Given the description of an element on the screen output the (x, y) to click on. 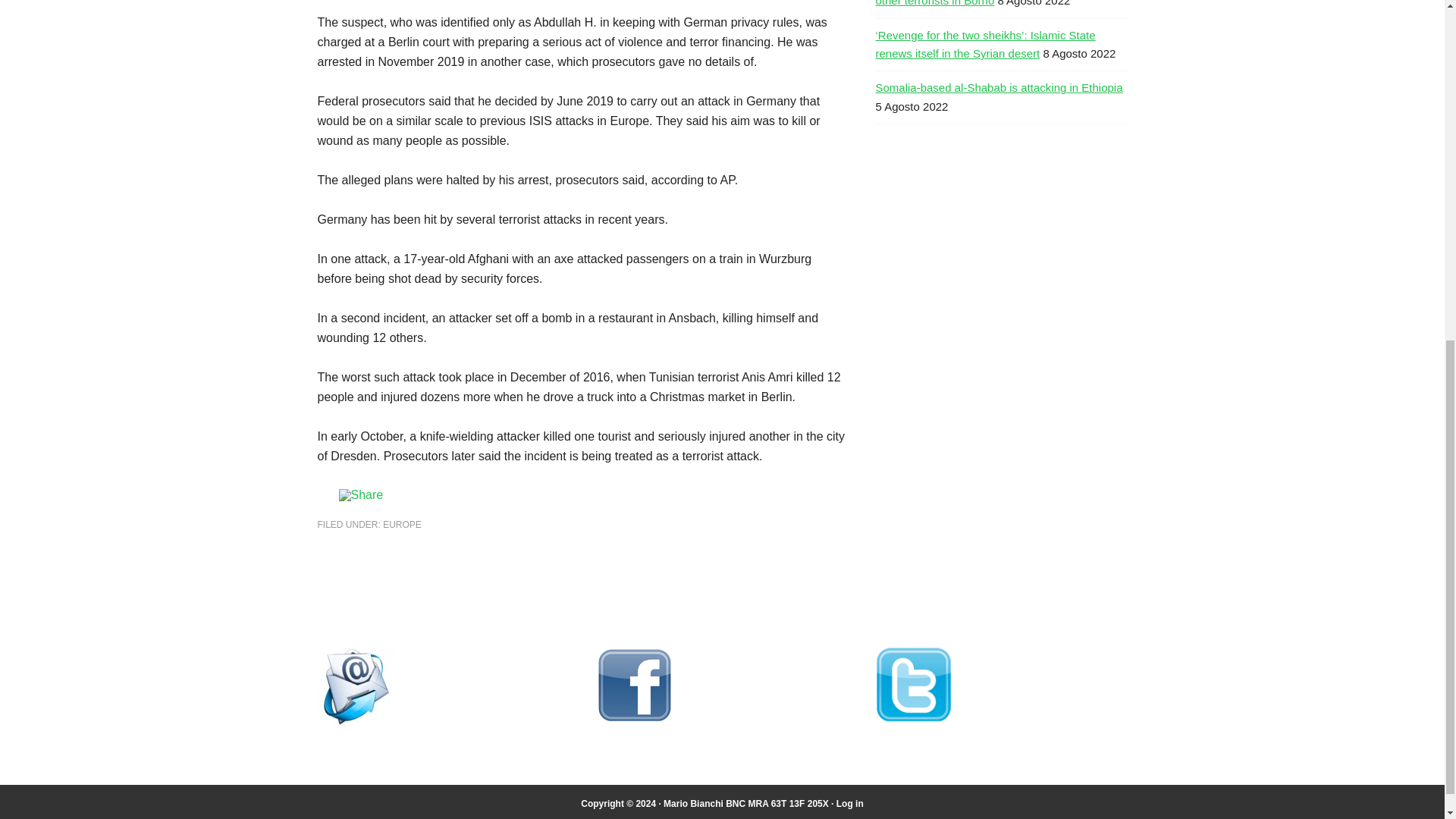
Log in (849, 803)
EUROPE (402, 524)
Somalia-based al-Shabab is attacking in Ethiopia (998, 87)
